Given the description of an element on the screen output the (x, y) to click on. 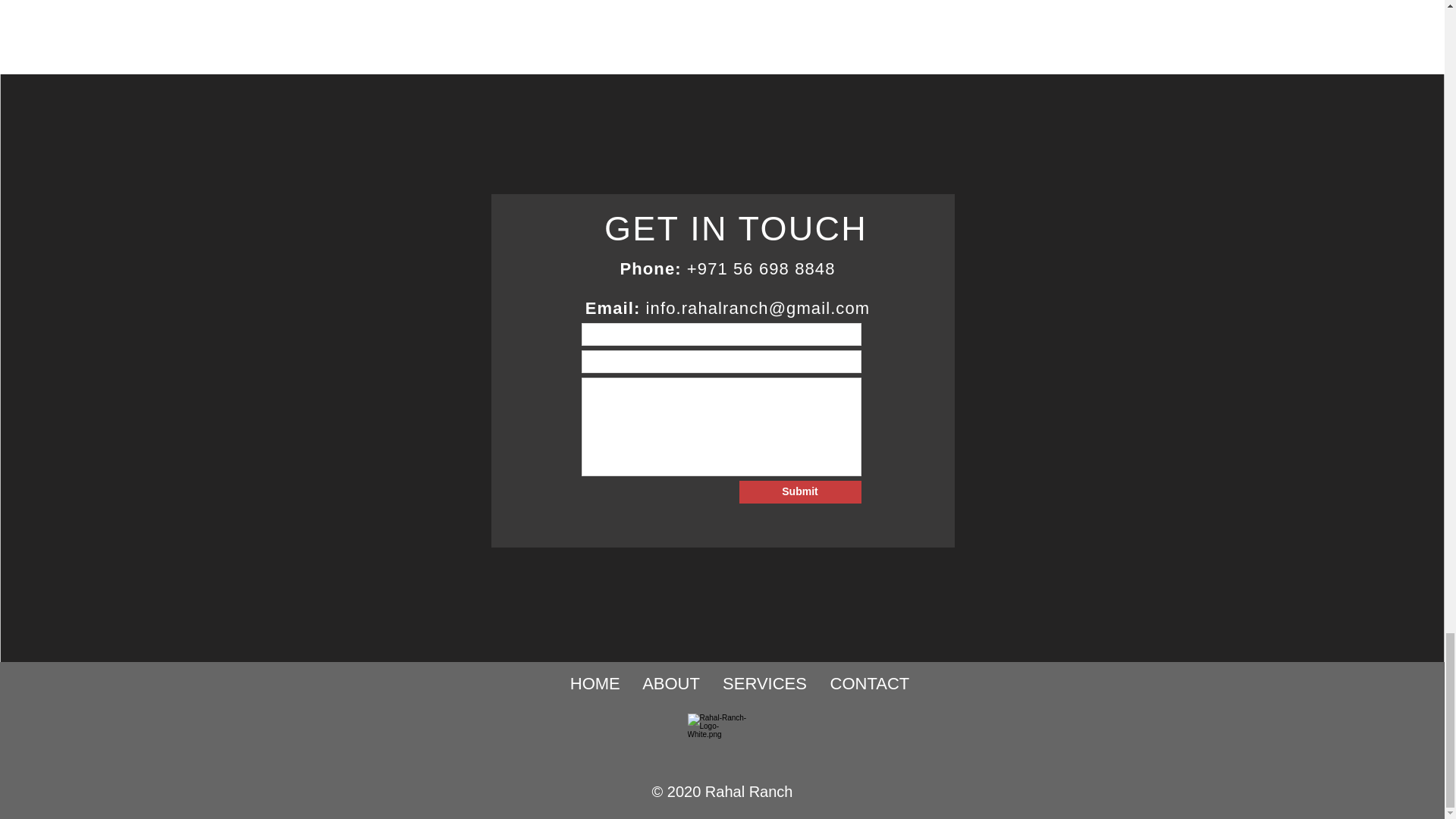
HOME      (606, 683)
ABOUT      (682, 683)
CONTACT (869, 683)
SERVICES      (775, 683)
Submit (799, 491)
